Given the description of an element on the screen output the (x, y) to click on. 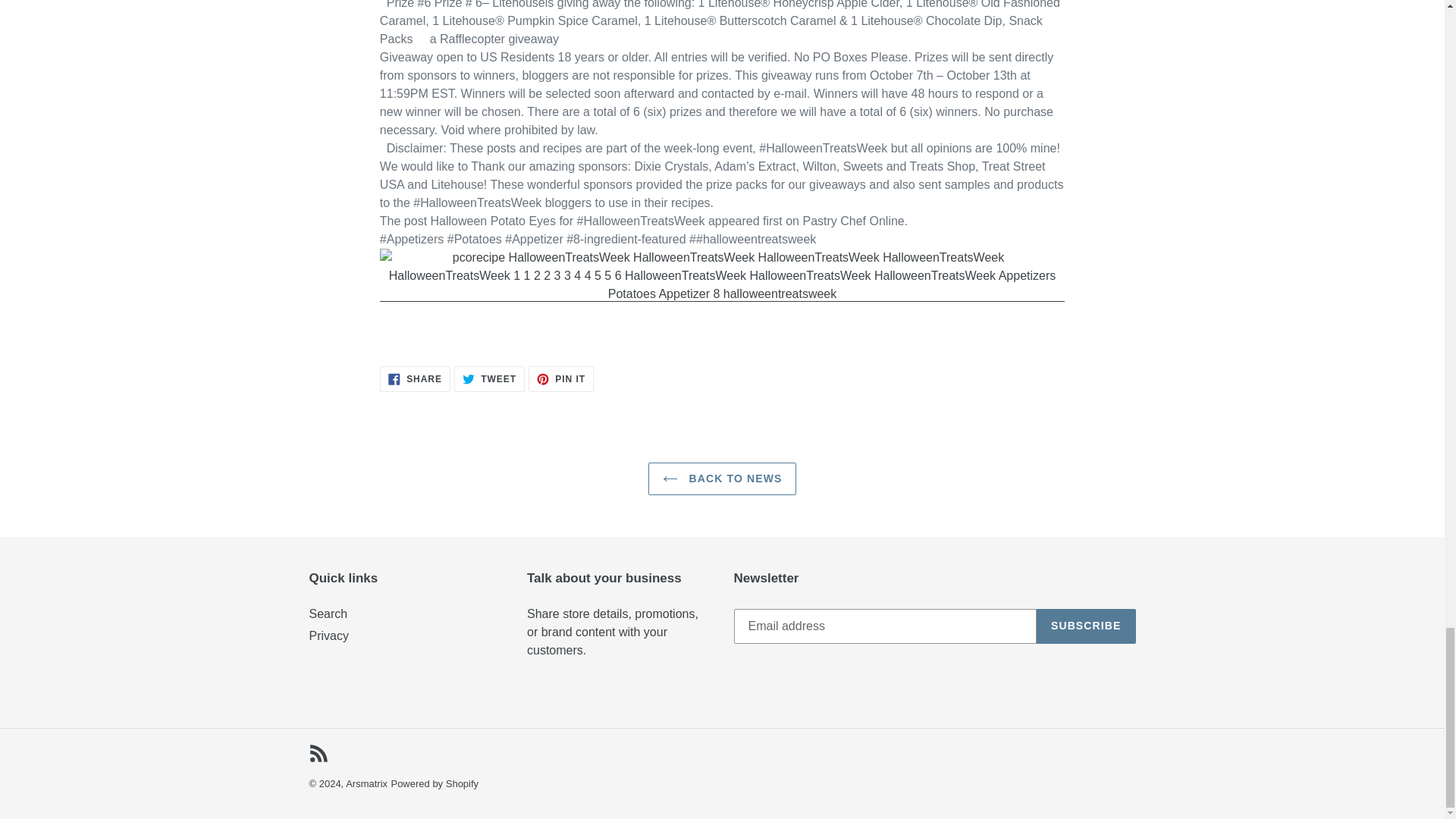
Arsmatrix (414, 379)
Powered by Shopify (366, 783)
Search (434, 783)
SUBSCRIBE (561, 379)
BACK TO NEWS (327, 613)
RSS (489, 379)
Privacy (1085, 626)
